Given the description of an element on the screen output the (x, y) to click on. 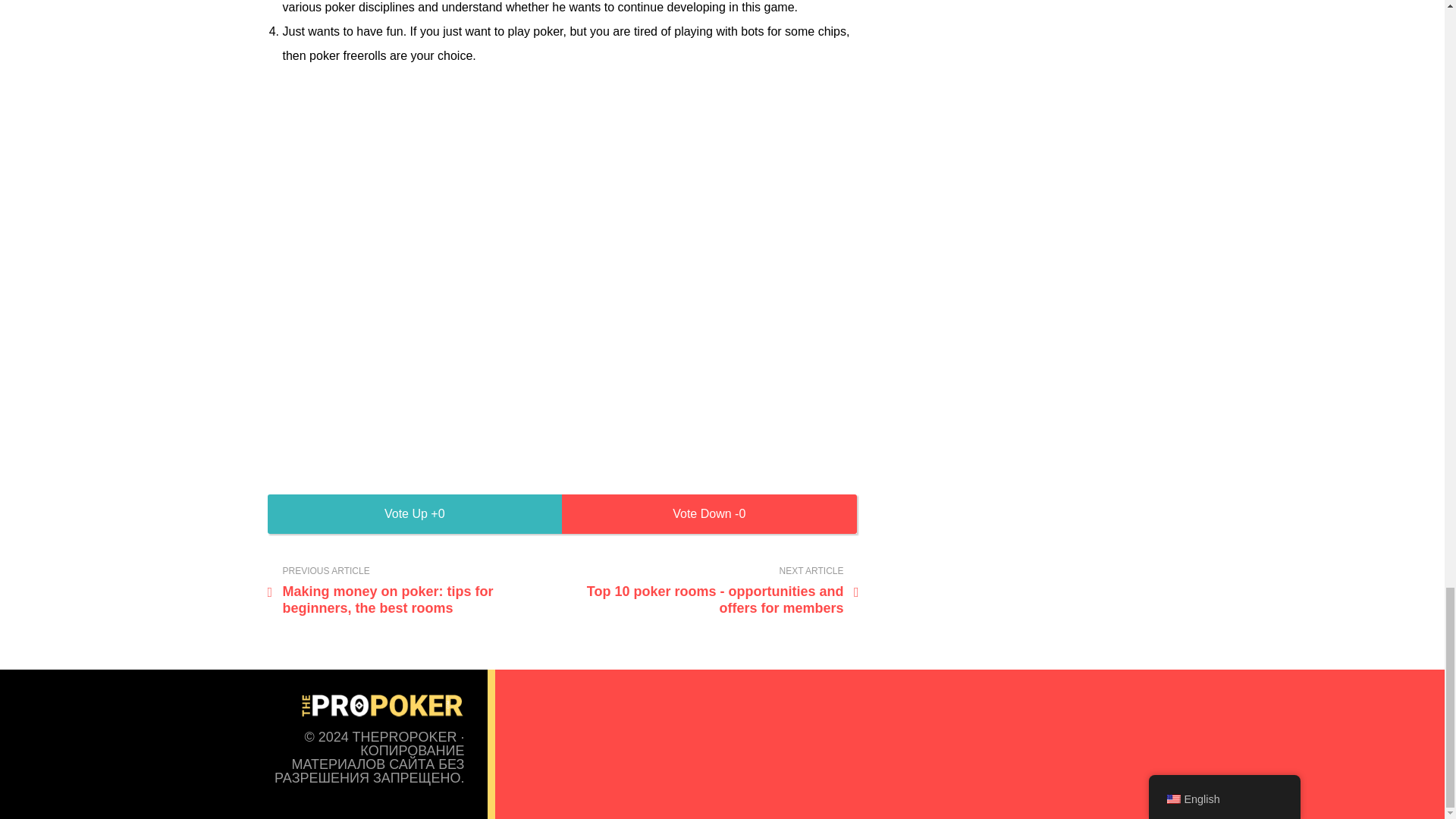
Top 10 poker rooms - opportunities and offers for members (714, 591)
Making money on poker: tips for beginners, the best rooms (411, 591)
